Given the description of an element on the screen output the (x, y) to click on. 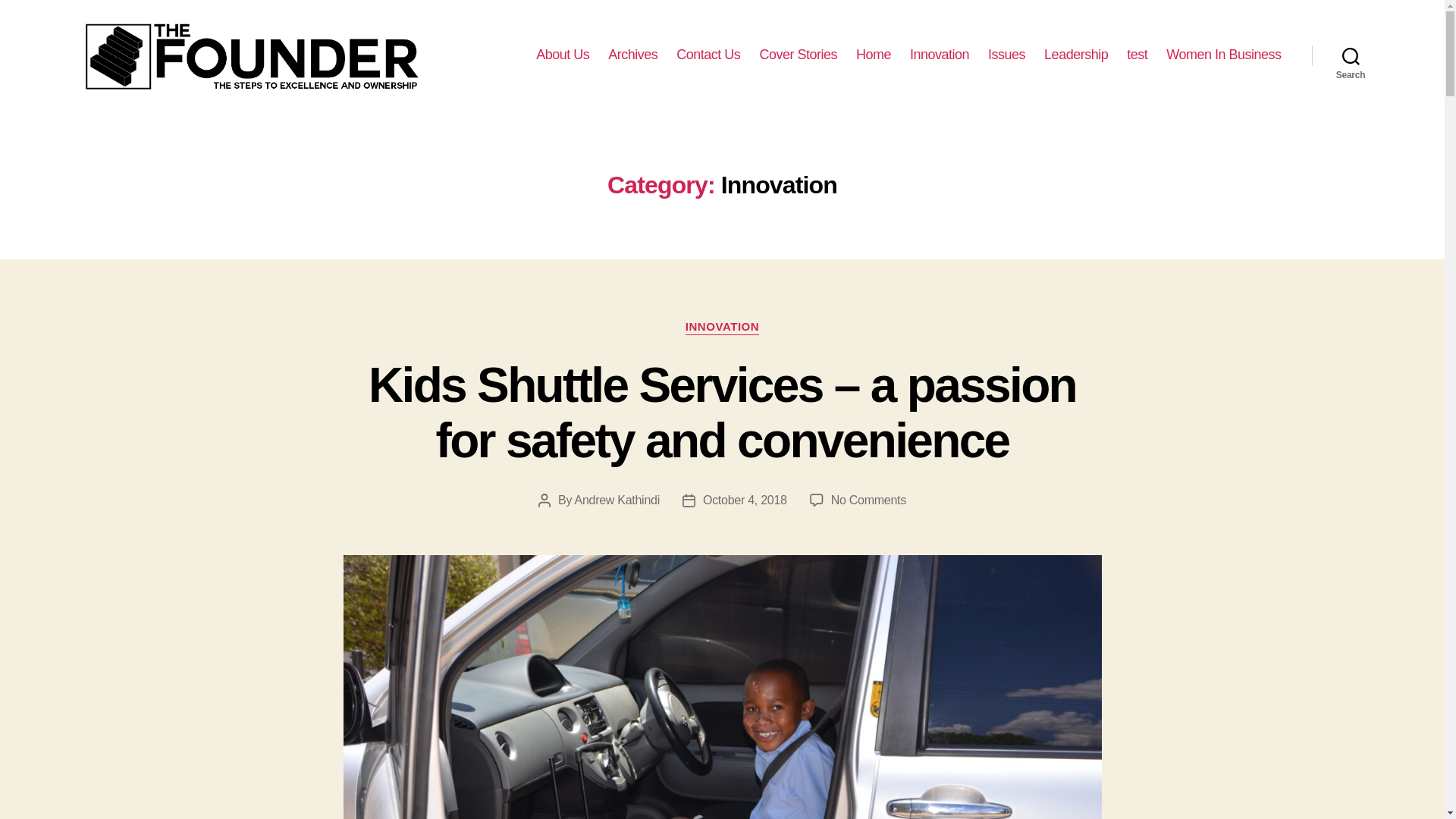
Search (1350, 55)
October 4, 2018 (745, 499)
Home (873, 54)
Cover Stories (797, 54)
INNOVATION (721, 327)
Innovation (939, 54)
Issues (1006, 54)
Andrew Kathindi (616, 499)
Leadership (1075, 54)
test (1136, 54)
